Given the description of an element on the screen output the (x, y) to click on. 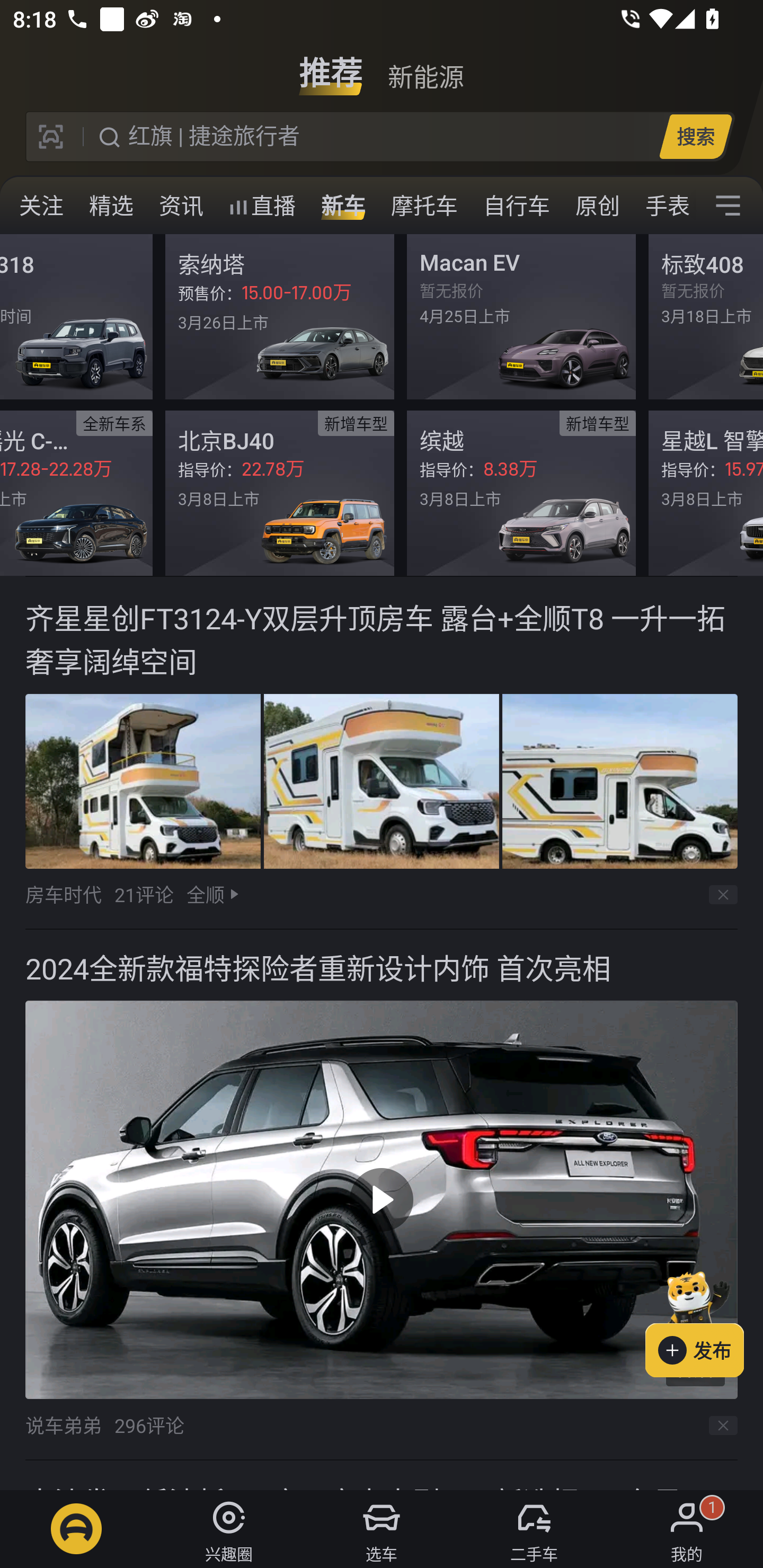
推荐 (330, 65)
新能源 (425, 65)
搜索 (695, 136)
关注 (41, 205)
精选 (111, 205)
资讯 (180, 205)
直播 (261, 205)
新车 (343, 205)
摩托车 (424, 205)
自行车 (516, 205)
原创 (597, 205)
手表 (663, 205)
 (727, 205)
暂无报价 (76, 316)
预售价：15.00-17.00万 (279, 316)
暂无报价 (520, 316)
暂无报价 (705, 316)
全新车系预售价：17.28-22.28万 (76, 492)
新增车型指导价：22.78万 (279, 492)
新增车型指导价：8.38万 (520, 492)
新增车型指导价：15.97万 (705, 492)
齐星星创FT3124-Y双层升顶房车 露台+全顺T8 一升一拓奢享阔绰空间 房车时代 21评论 全顺 (381, 753)
全顺 (205, 894)
2024全新款福特探险者重新设计内饰 首次亮相  05:50 说车弟弟 296评论 (381, 1194)
发布 (704, 1320)
 兴趣圈 (228, 1528)
 选车 (381, 1528)
 二手车 (533, 1528)
 我的 (686, 1528)
